Given the description of an element on the screen output the (x, y) to click on. 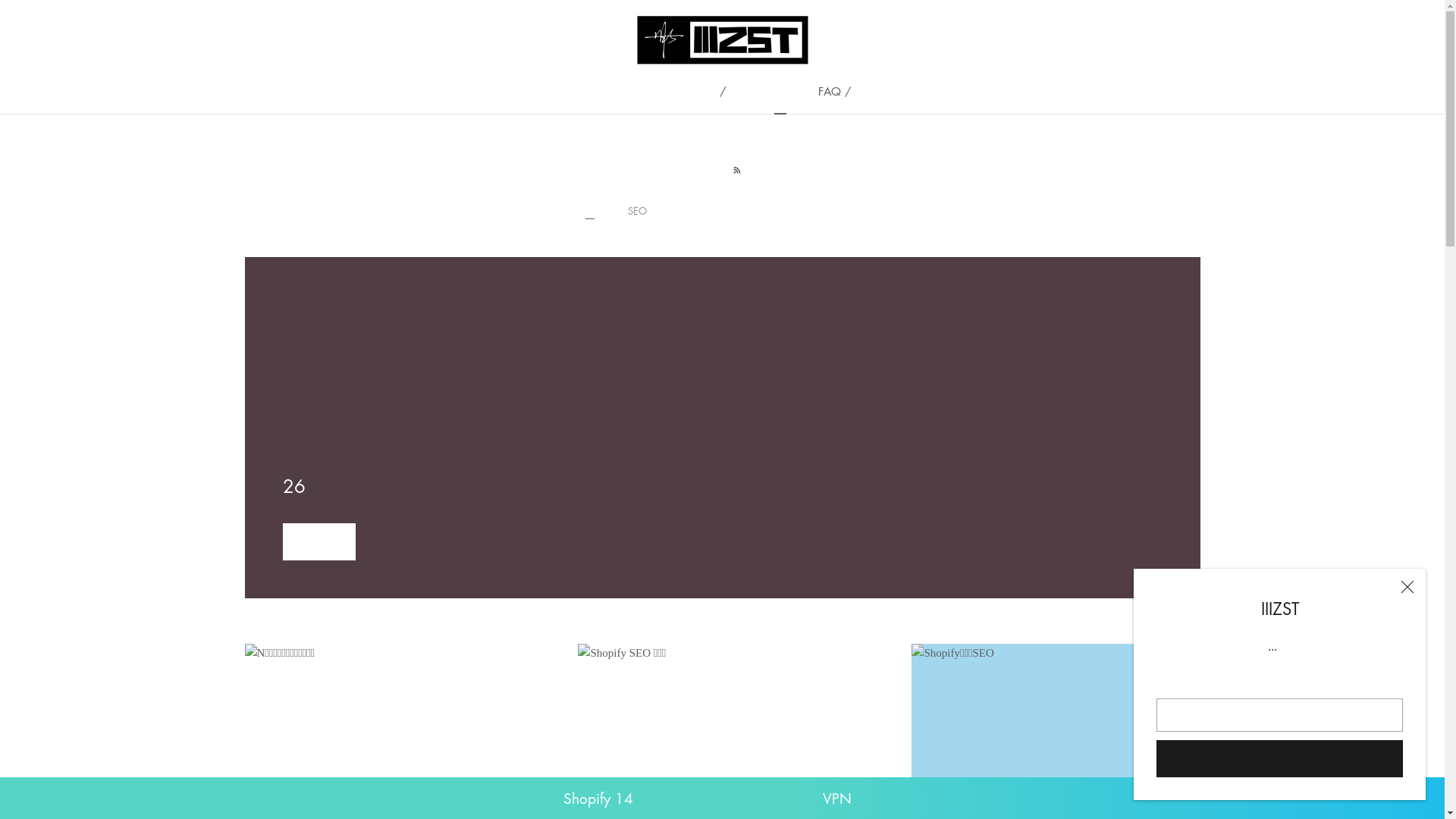
SEO Element type: text (636, 210)
